Given the description of an element on the screen output the (x, y) to click on. 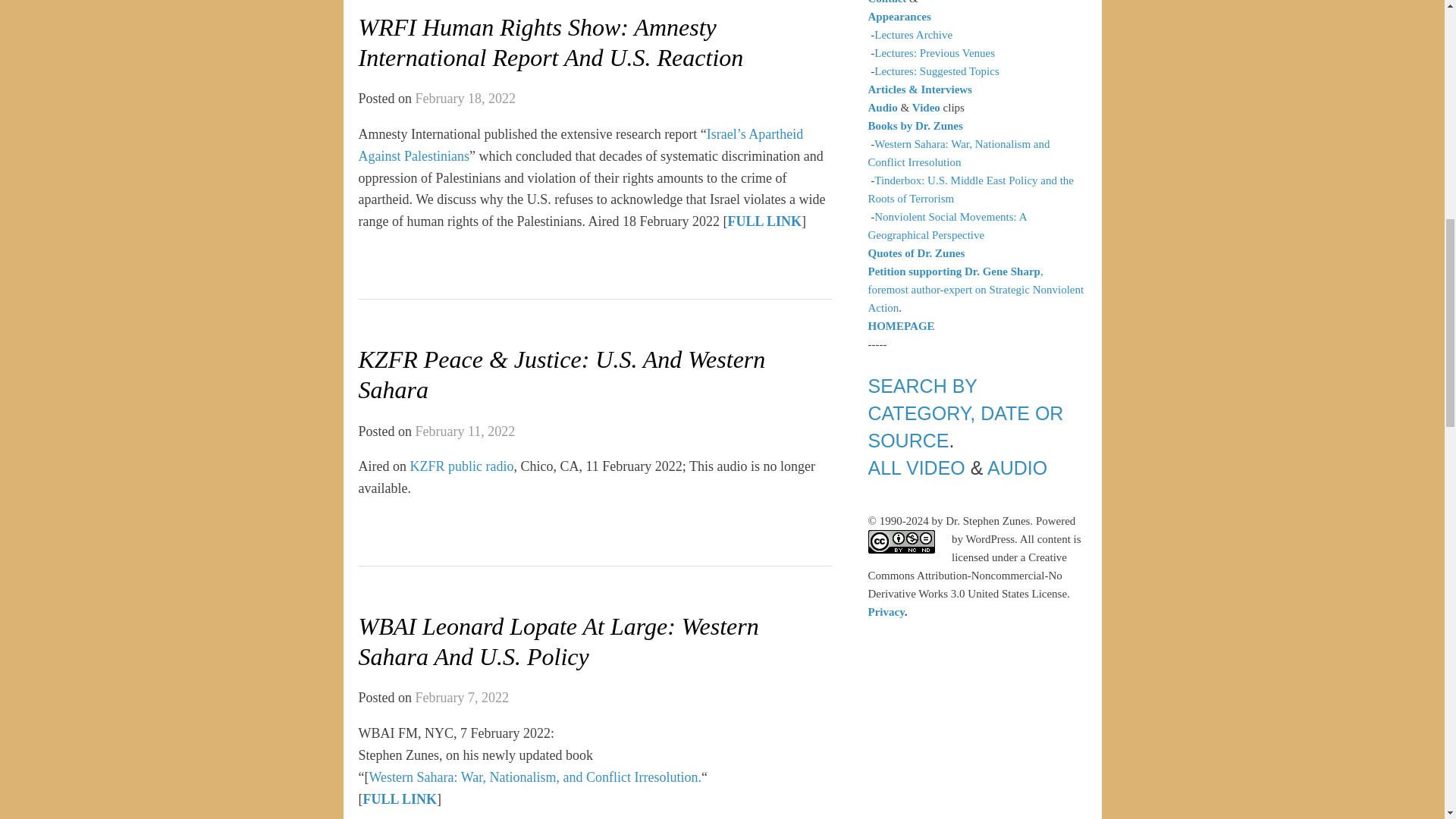
February 11, 2022 (464, 430)
Western Sahara: War, Nationalism, and Conflict Irresolution. (534, 776)
KZFR public radio (461, 466)
February 7, 2022 (461, 697)
February 18, 2022 (464, 98)
FULL LINK (399, 798)
FULL LINK (764, 221)
WBAI Leonard Lopate At Large: Western Sahara And U.S. Policy (558, 641)
